Given the description of an element on the screen output the (x, y) to click on. 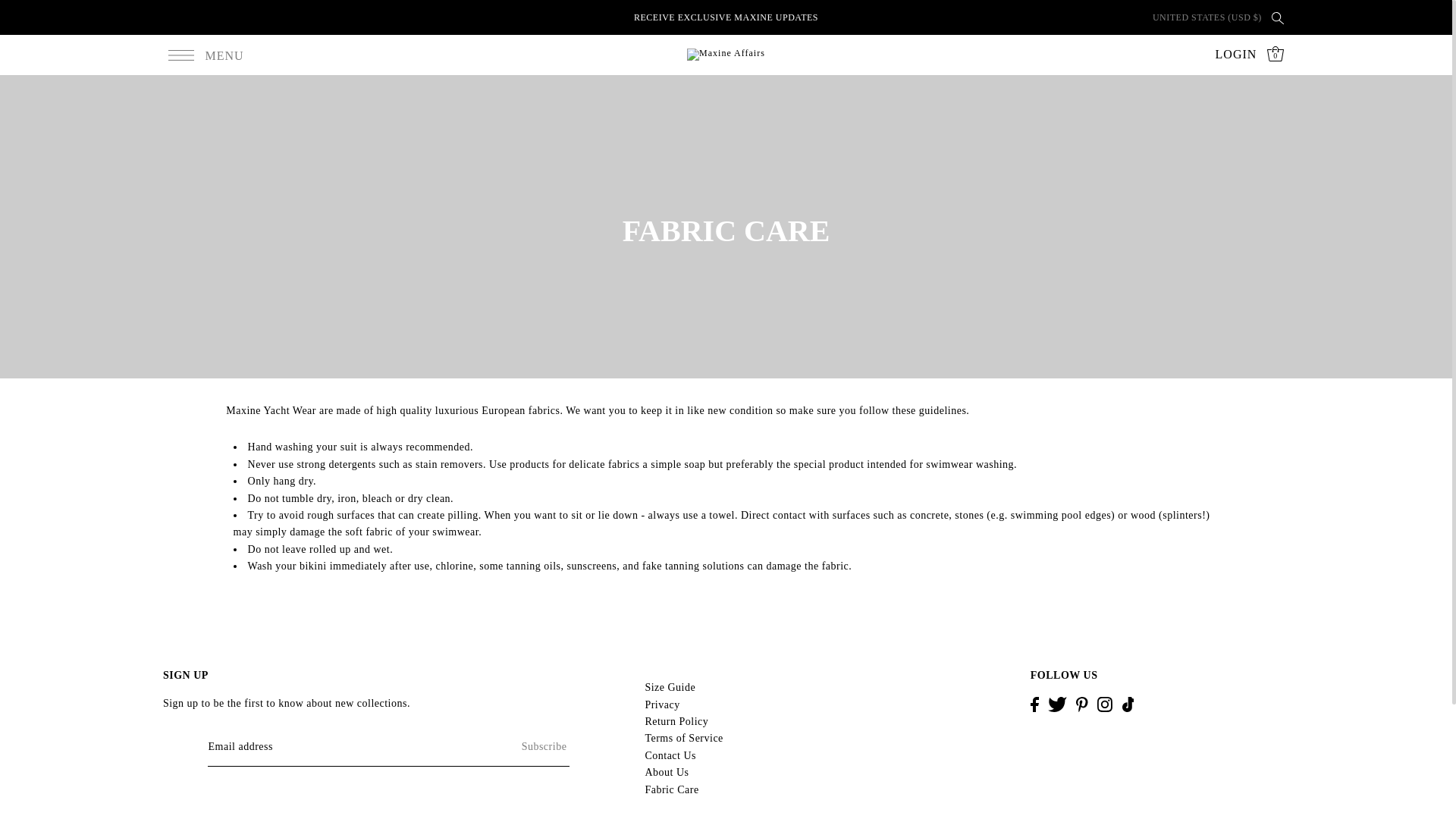
MENU (205, 55)
About Us (666, 772)
LOGIN (1235, 54)
Instagram (1104, 703)
Return Policy (676, 721)
Twitter (1057, 703)
Terms of Service (683, 737)
Contact Us (670, 755)
Subscribe (513, 746)
Privacy (662, 704)
Size Guide (670, 686)
